Given the description of an element on the screen output the (x, y) to click on. 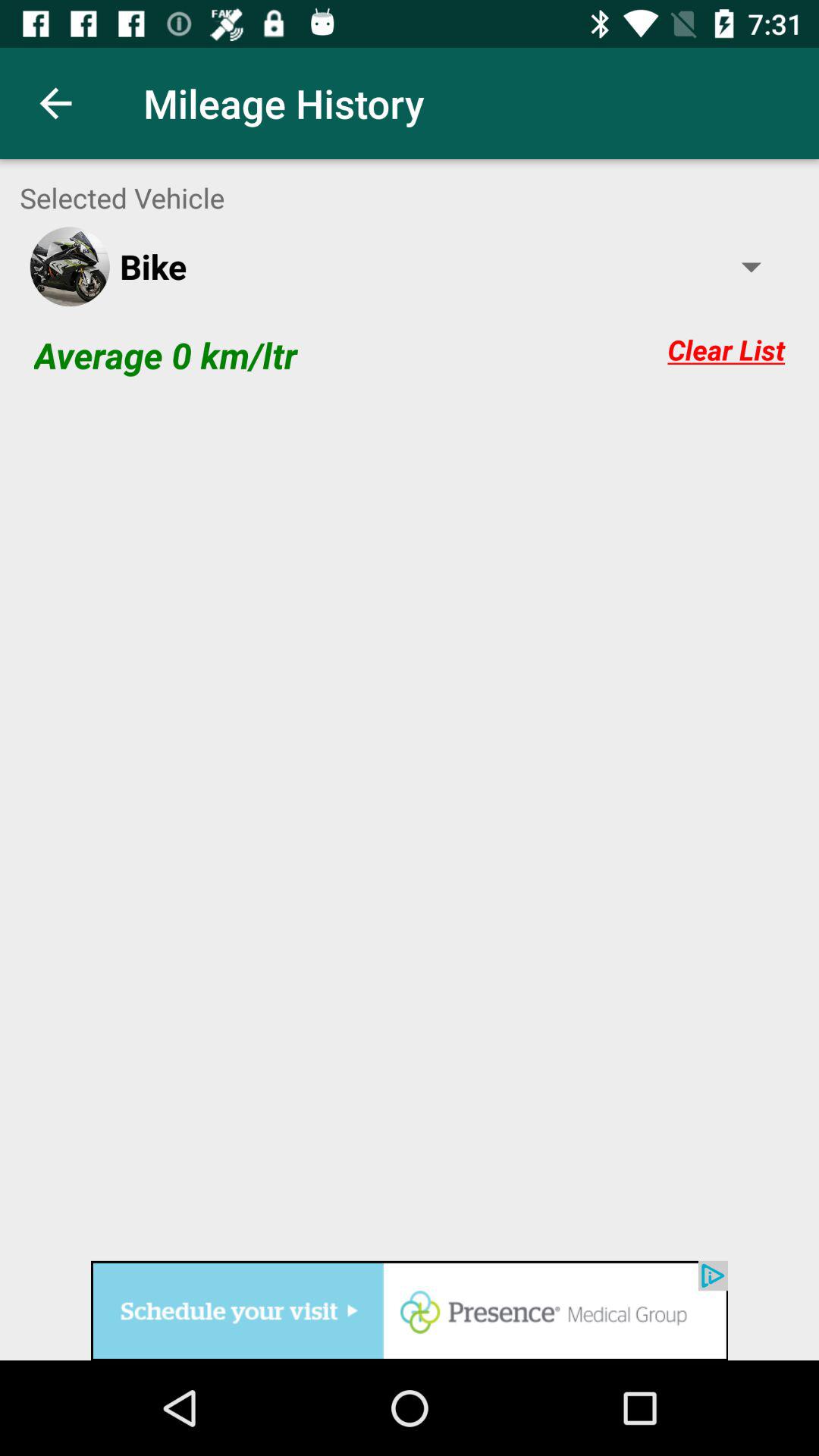
description (409, 826)
